Given the description of an element on the screen output the (x, y) to click on. 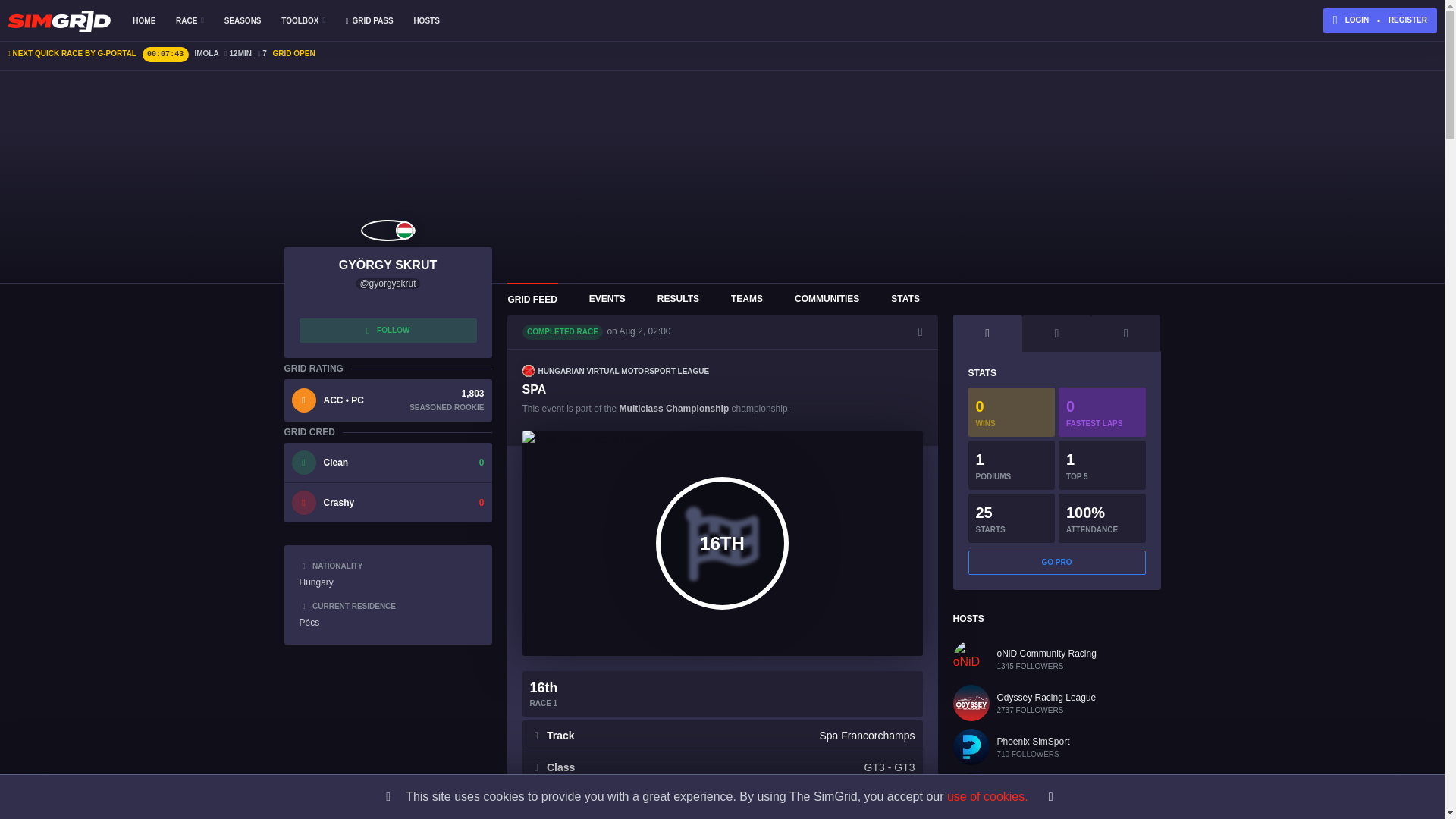
HOME (143, 20)
GRID PASS (368, 20)
SEASONS (242, 20)
TOOLBOX (303, 20)
August 2, 2024 at 2:00am  (643, 330)
use of cookies. (987, 796)
HOSTS (426, 20)
RACE (189, 20)
